Given the description of an element on the screen output the (x, y) to click on. 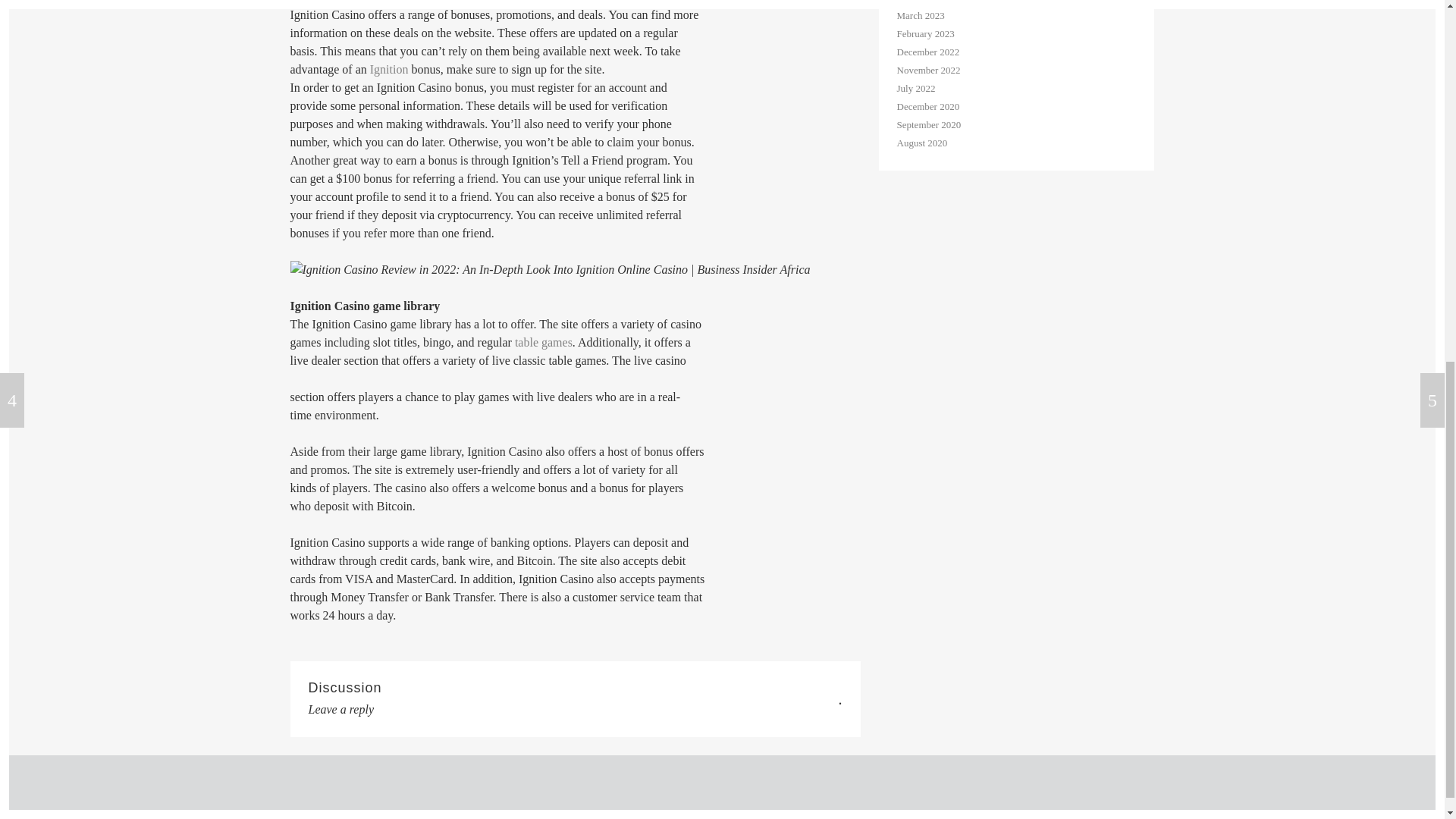
April 2023 (917, 1)
November 2022 (927, 70)
September 2020 (928, 124)
July 2022 (915, 88)
August 2020 (921, 142)
February 2023 (924, 33)
December 2020 (927, 106)
December 2022 (927, 51)
Ignition (389, 69)
table games (543, 341)
March 2023 (919, 15)
